Given the description of an element on the screen output the (x, y) to click on. 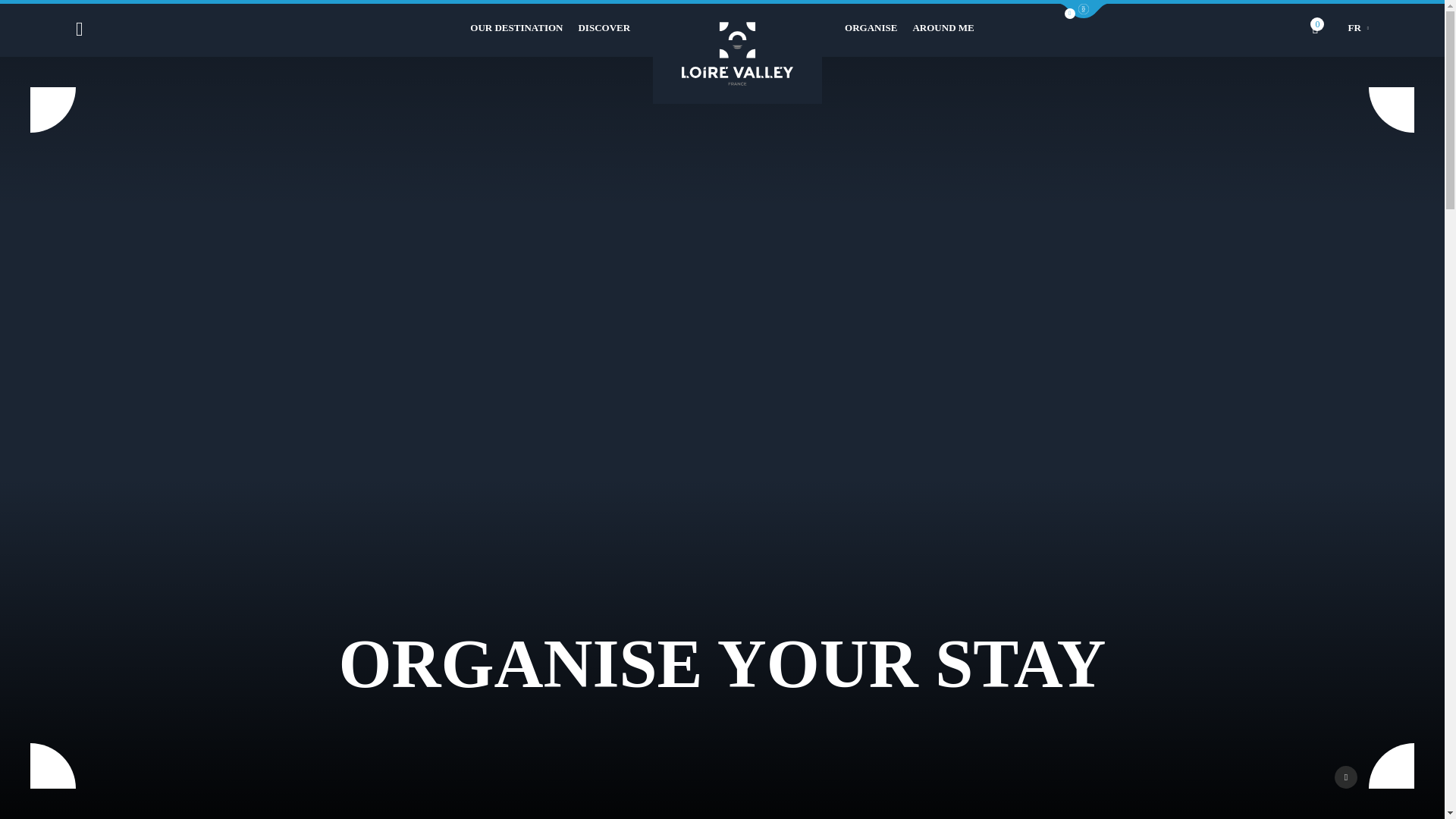
DISCOVER (604, 28)
OUR DESTINATION (516, 28)
AROUND ME (943, 28)
ORGANISE (870, 28)
